Given the description of an element on the screen output the (x, y) to click on. 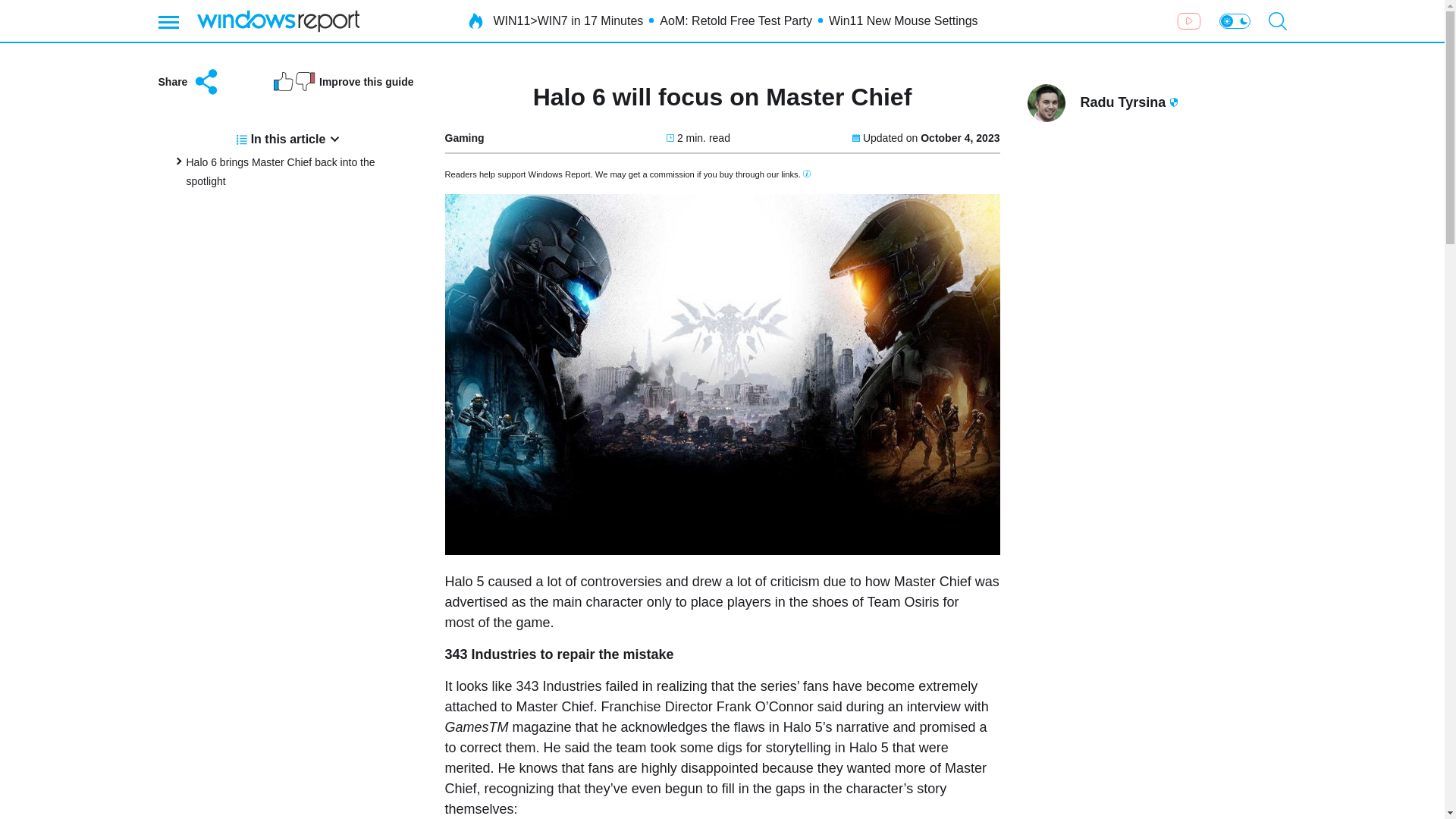
AoM: Retold Free Test Party (735, 21)
Share (189, 81)
Win11 New Mouse Settings (903, 21)
Halo 6 brings Master Chief back into the spotlight (280, 171)
Open search bar (1276, 21)
Share this article (189, 81)
Gaming (463, 137)
